Given the description of an element on the screen output the (x, y) to click on. 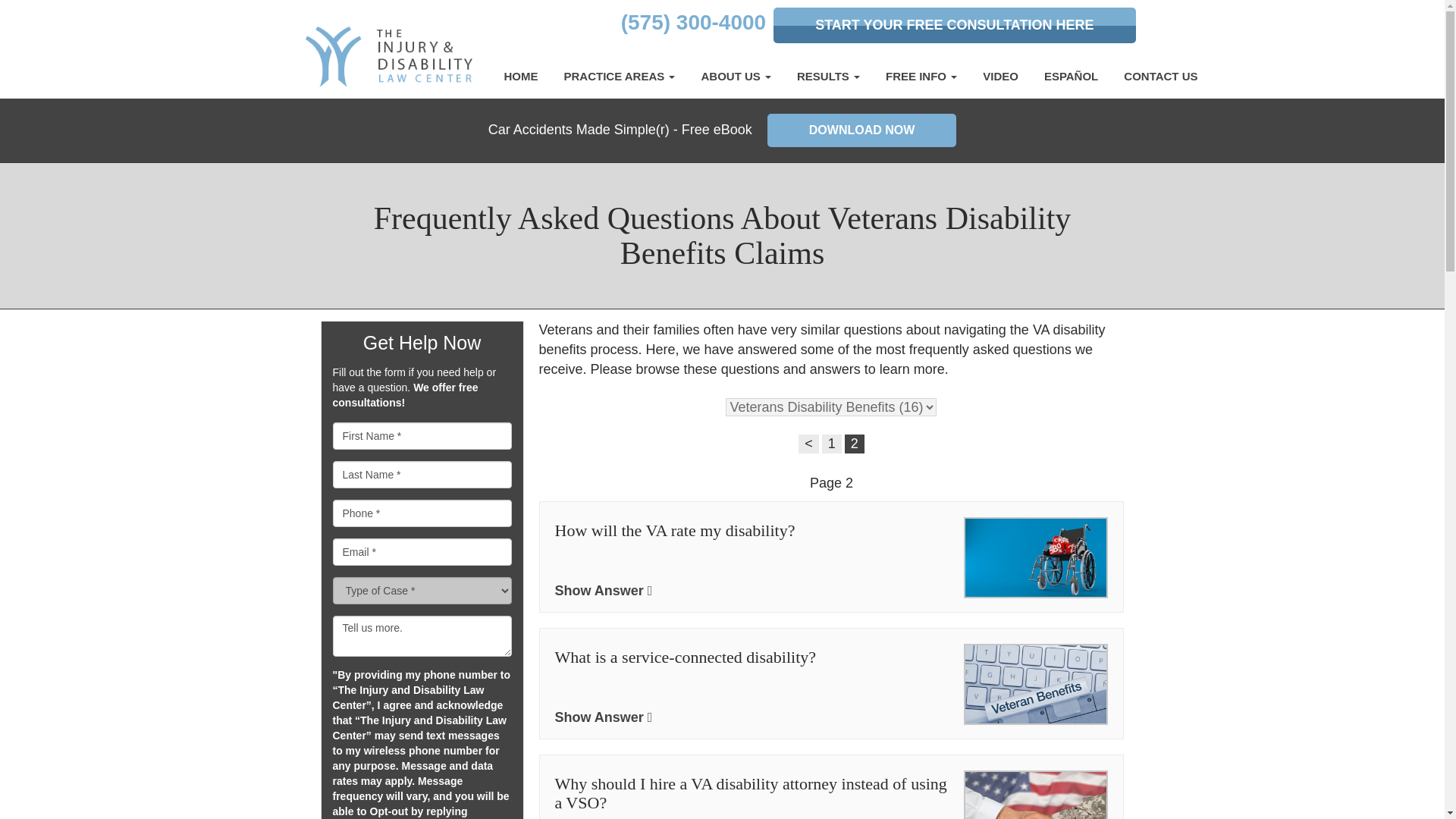
DOWNLOAD NOW (861, 130)
RESULTS (828, 75)
HOME (521, 75)
PRACTICE AREAS (618, 75)
ABOUT US (735, 75)
FREE INFO (920, 75)
CONTACT US (1159, 75)
VIDEO (999, 75)
START YOUR FREE CONSULTATION HERE (954, 25)
